Given the description of an element on the screen output the (x, y) to click on. 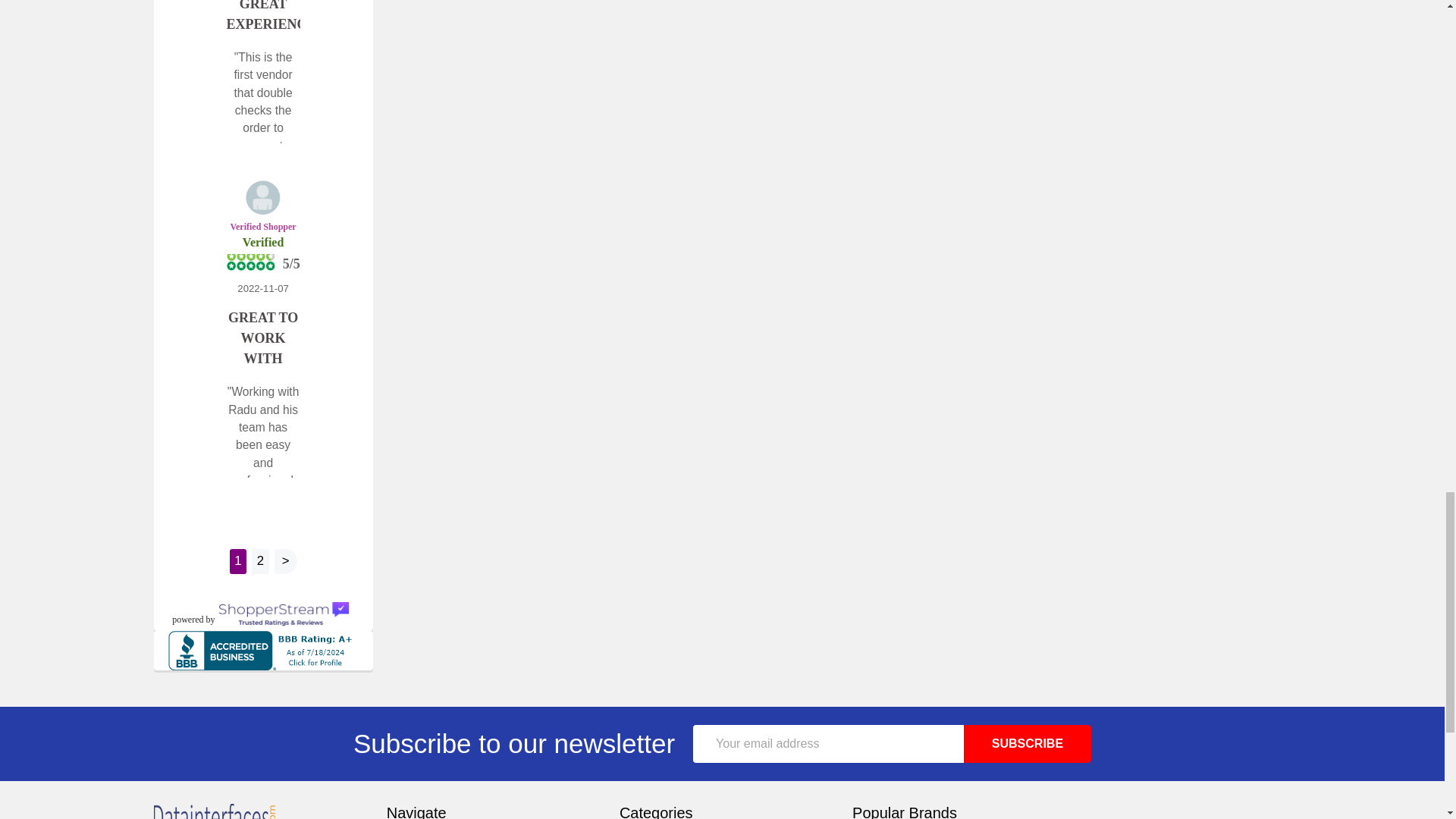
Datainterfaces (213, 811)
Subscribe (1026, 743)
